Given the description of an element on the screen output the (x, y) to click on. 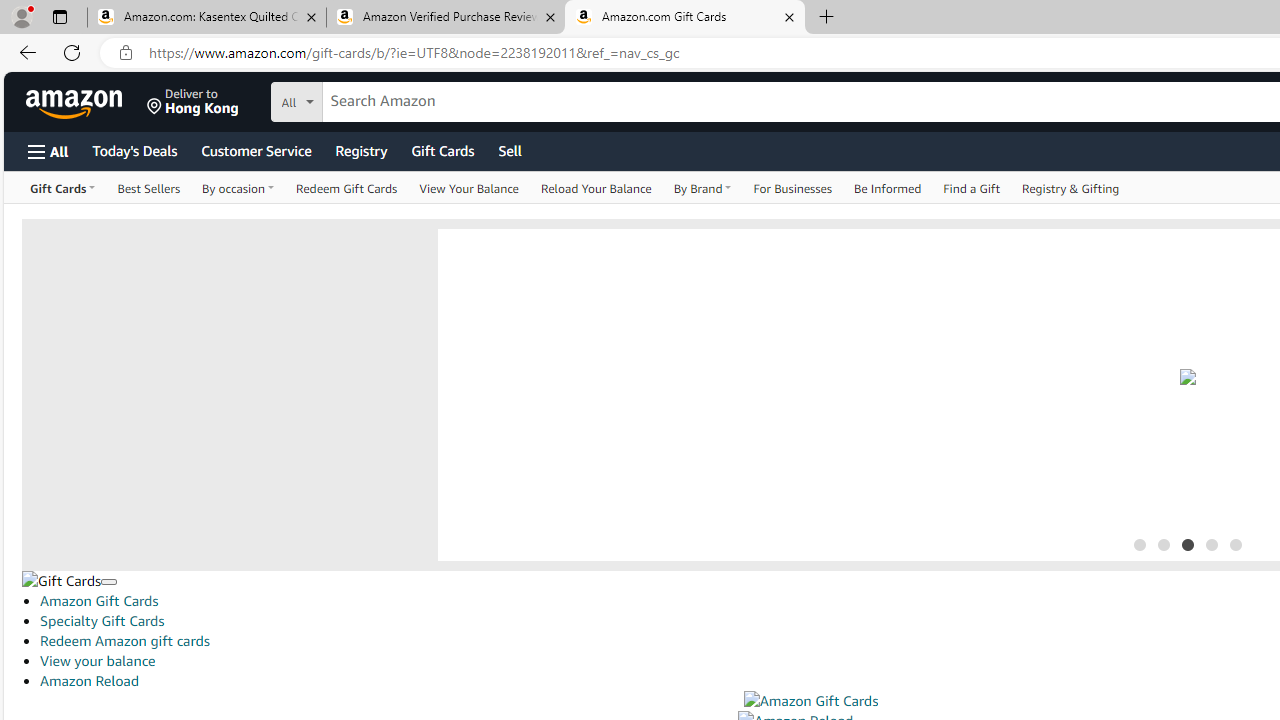
Amazon Gift Cards (810, 701)
View your balance (97, 661)
Reload Your Balance (595, 187)
Amazon Gift Cards (810, 701)
Be Informed (888, 187)
Toggle Navigation (108, 582)
Redeem Amazon gift cards (124, 641)
Gift Cards (61, 580)
Best Sellers (149, 187)
